Given the description of an element on the screen output the (x, y) to click on. 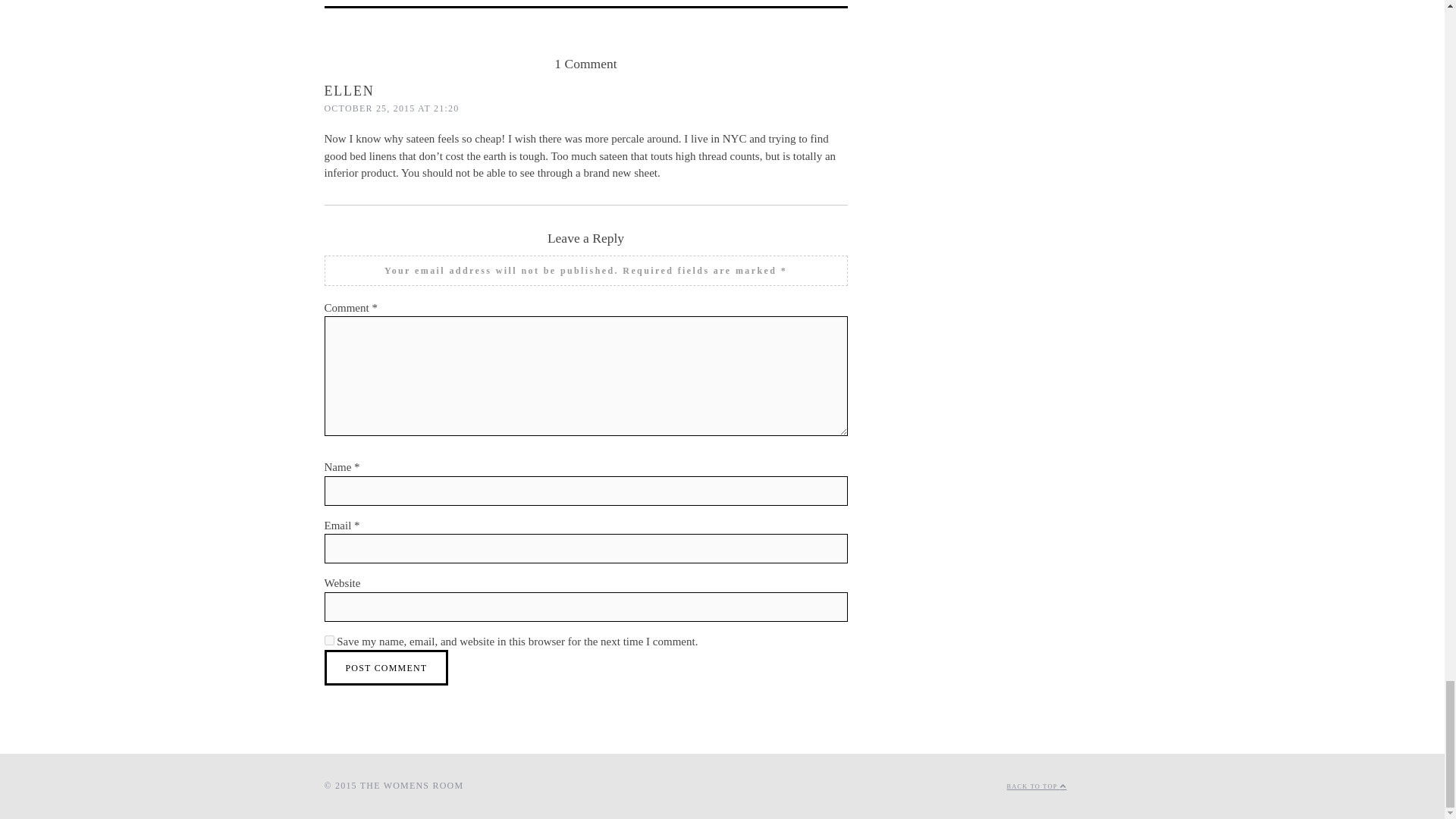
yes (329, 640)
Post Comment (386, 667)
